Given the description of an element on the screen output the (x, y) to click on. 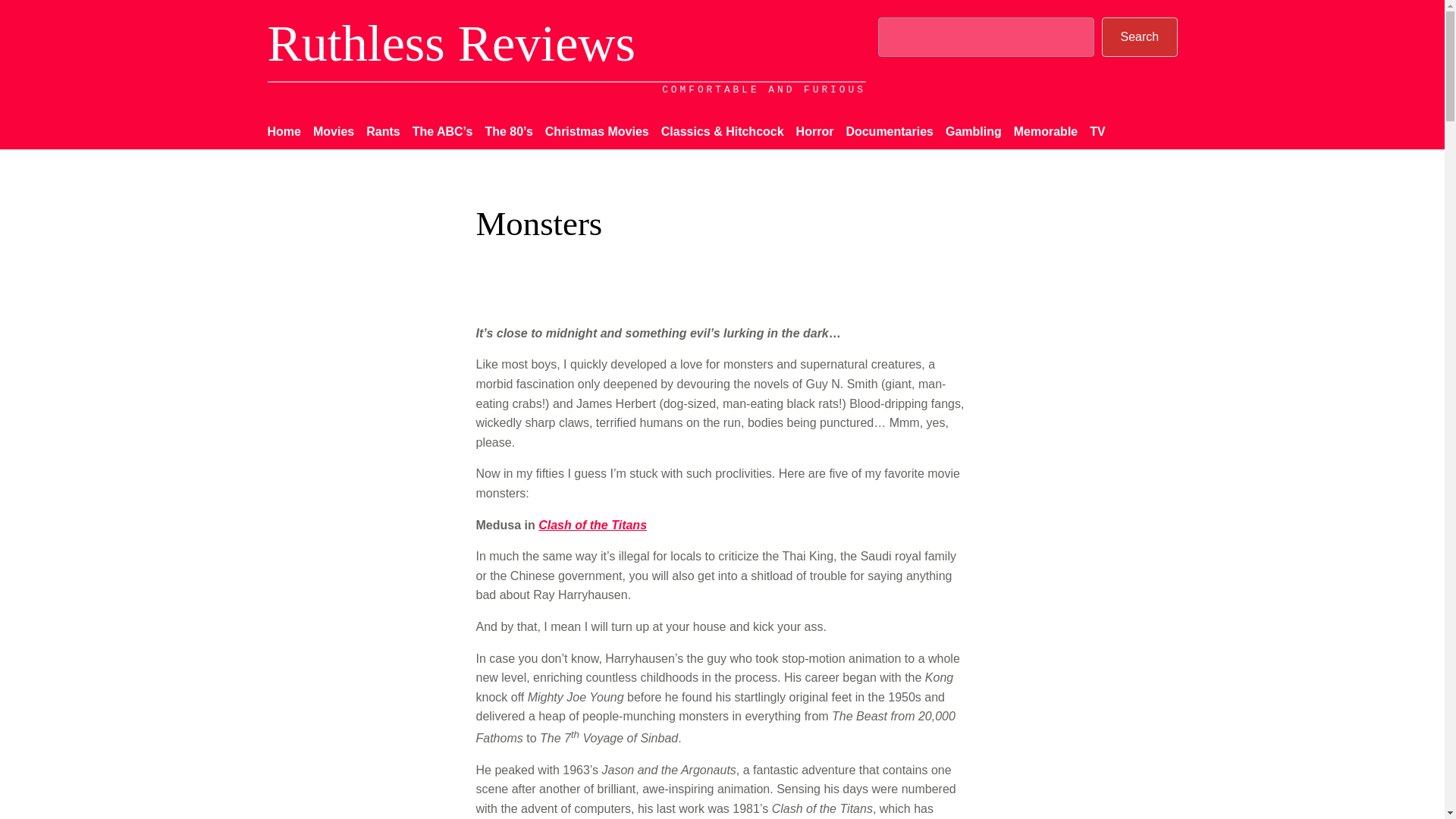
Search (1139, 36)
TV (1097, 131)
Home (282, 131)
Christmas Movies (596, 131)
Clash of the Titans (592, 524)
Memorable (1045, 131)
Rants (382, 131)
Movies (333, 131)
Ruthless Reviews (450, 42)
Documentaries (889, 131)
Horror (815, 131)
Gambling (972, 131)
